Given the description of an element on the screen output the (x, y) to click on. 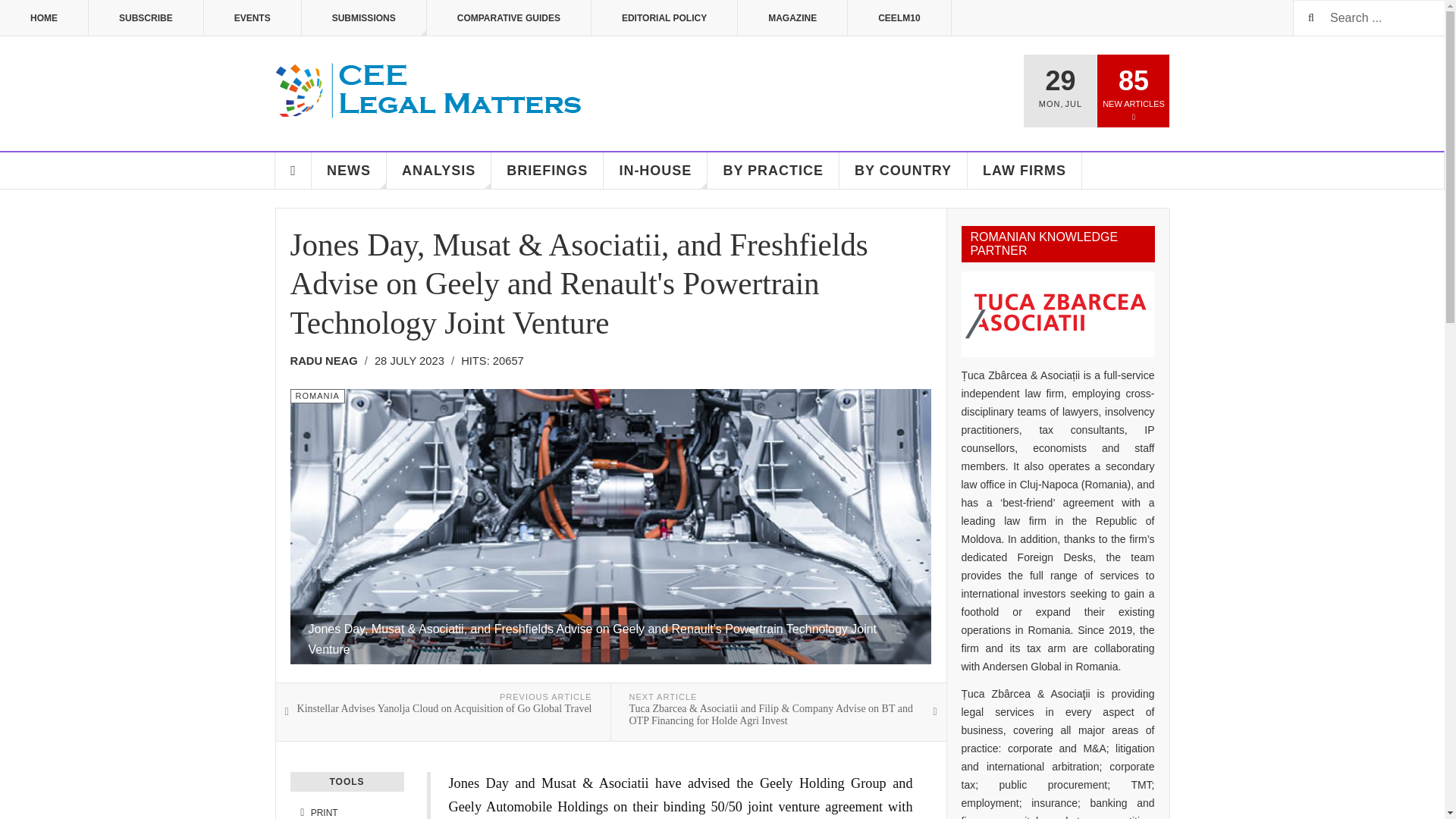
COMPARATIVE GUIDES (508, 18)
HOME (293, 170)
CEE Legal Matters (429, 90)
SUBMISSIONS (363, 18)
EDITORIAL POLICY (664, 18)
NEWS (349, 170)
CEELM10 (898, 18)
SUBSCRIBE (145, 18)
MAGAZINE (792, 18)
EVENTS (252, 18)
HOME (44, 18)
